Given the description of an element on the screen output the (x, y) to click on. 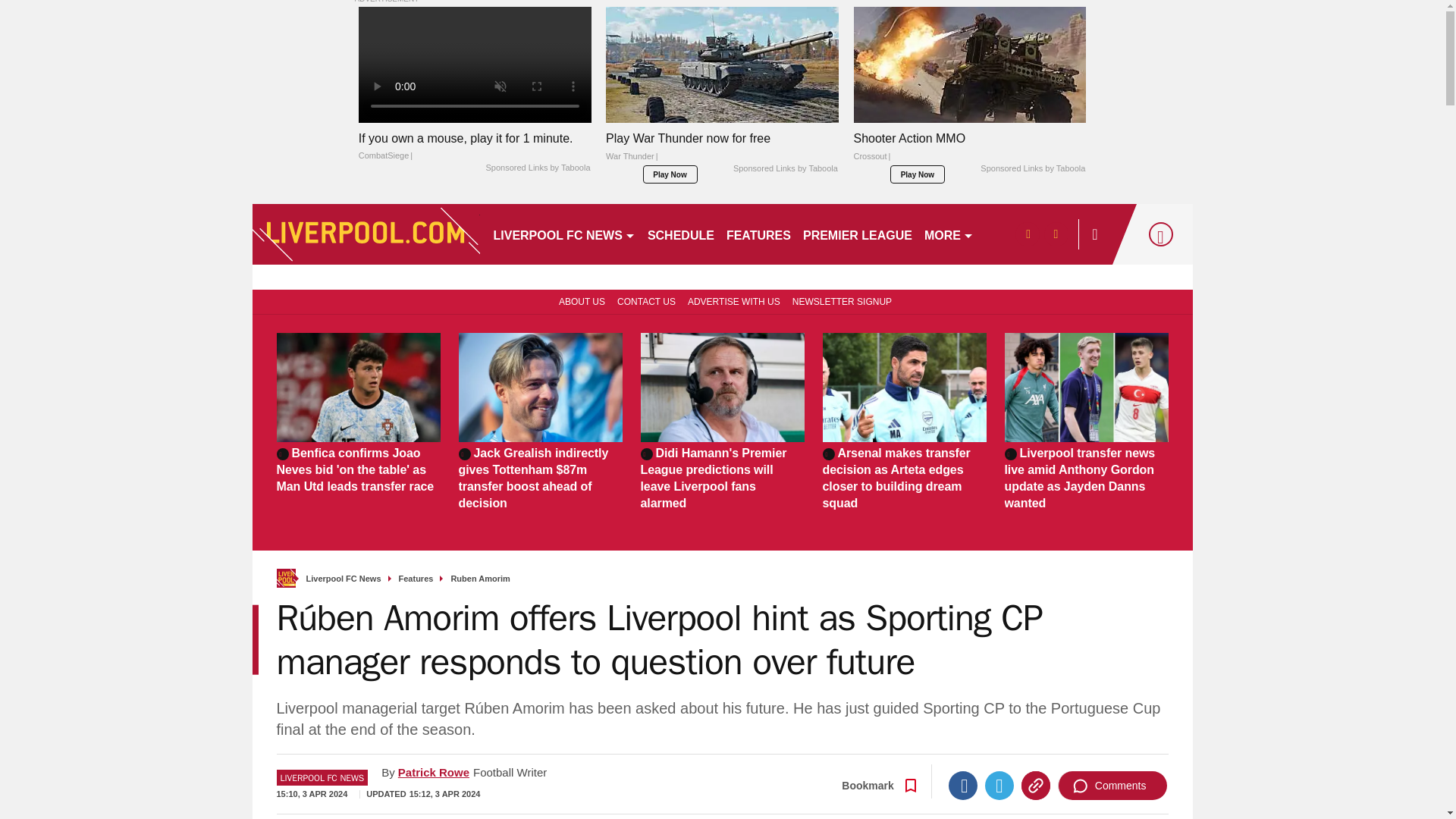
ADVERTISE WITH US (733, 300)
Sponsored Links by Taboola (785, 168)
Play War Thunder now for free (721, 64)
ABOUT US (579, 300)
MORE (948, 233)
LIVERPOOL FC NEWS (563, 233)
facebook (1026, 233)
Facebook (962, 785)
NEWSLETTER SIGNUP (842, 300)
PREMIER LEAGUE (857, 233)
Sponsored Links by Taboola (536, 167)
liverpool (365, 233)
If you own a mouse, play it for 1 minute. (474, 146)
Shooter Action MMO (969, 151)
